Given the description of an element on the screen output the (x, y) to click on. 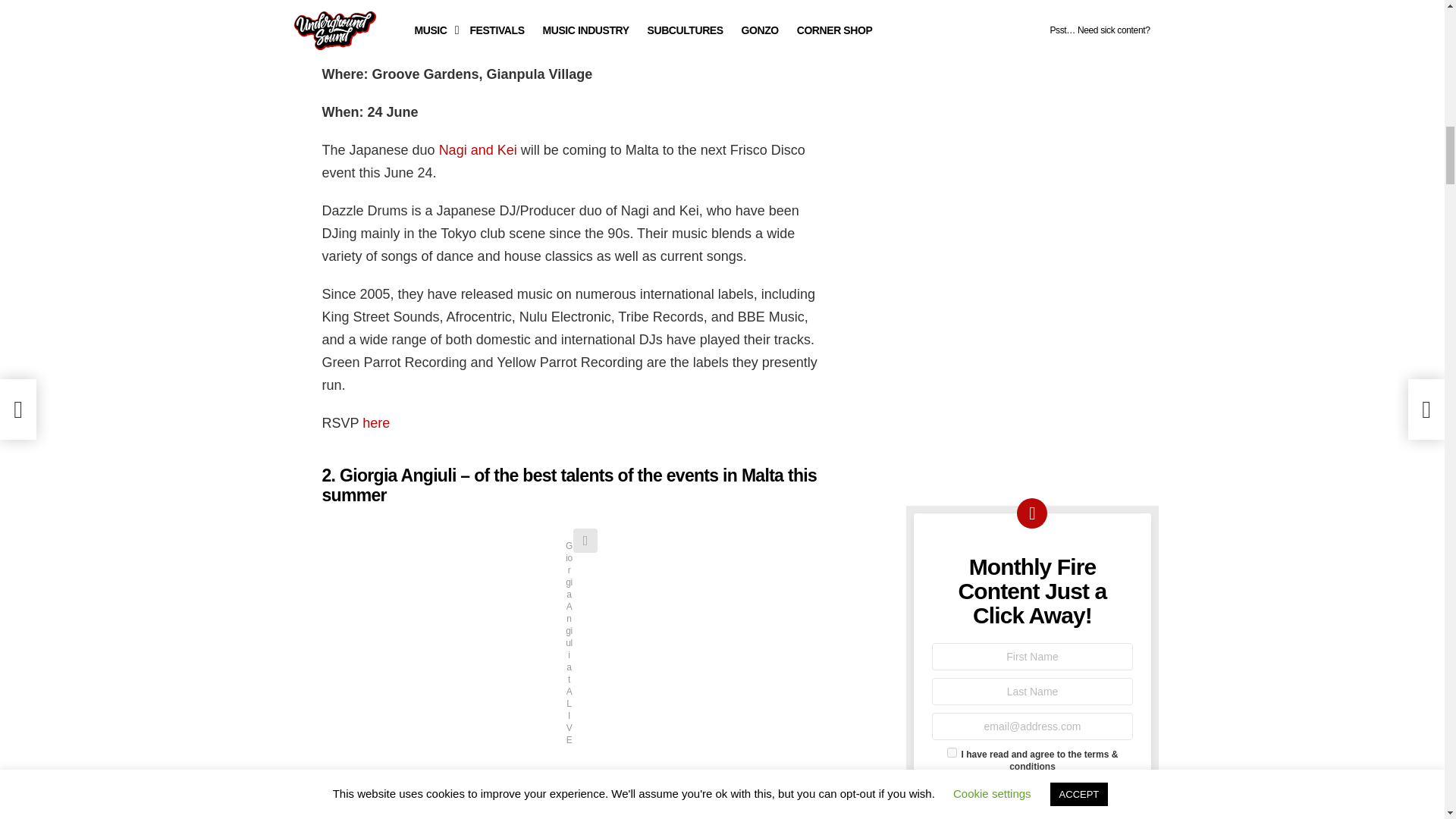
1 (951, 752)
Subscribe (1031, 793)
